Given the description of an element on the screen output the (x, y) to click on. 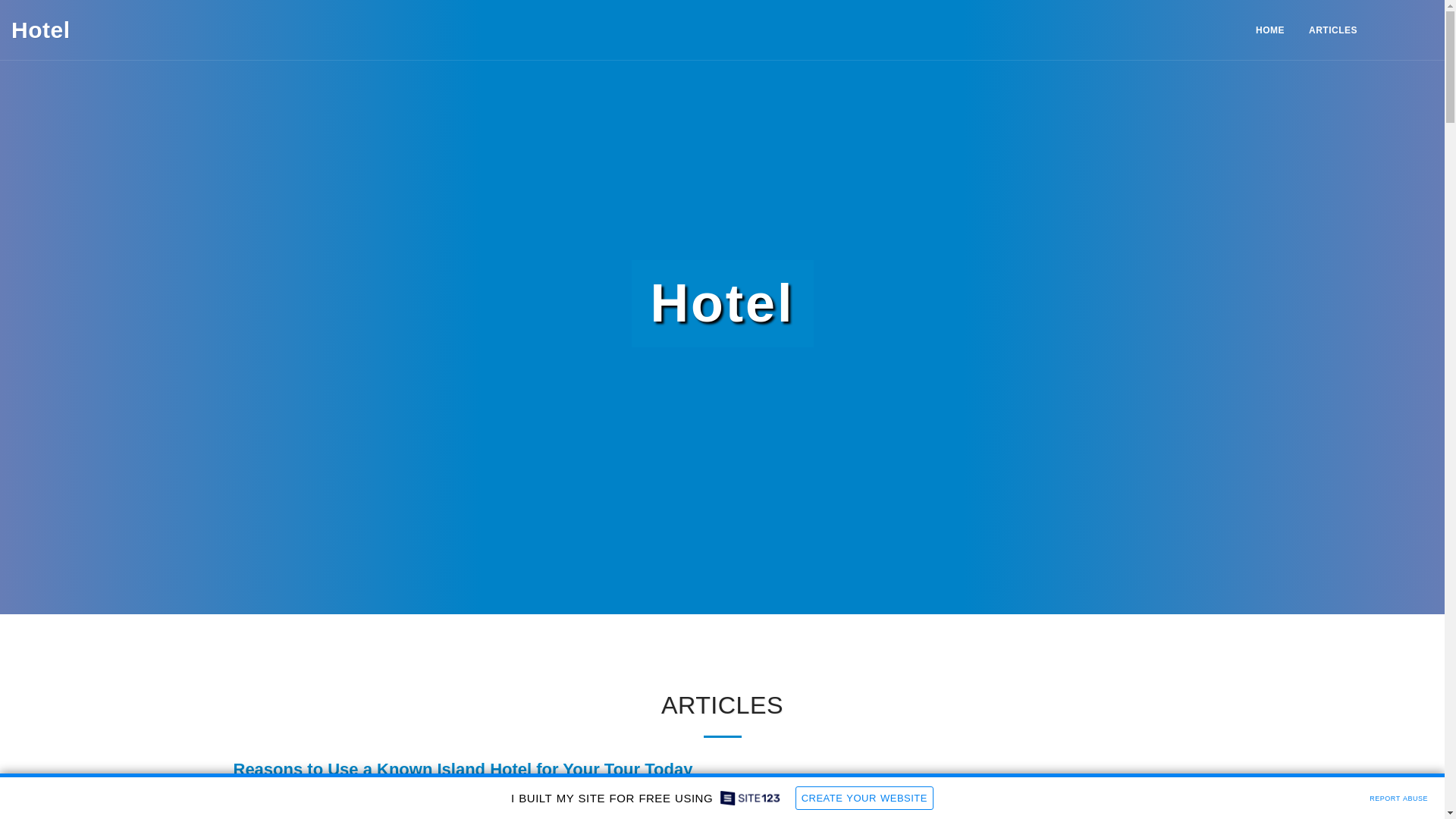
HOME (1269, 29)
ARTICLES (1332, 29)
Reasons to Use a Known Island Hotel for Your Tour Today (462, 769)
Hotel (40, 30)
ARTICLES (1332, 29)
Hotel (40, 30)
HOME (1269, 29)
